Given the description of an element on the screen output the (x, y) to click on. 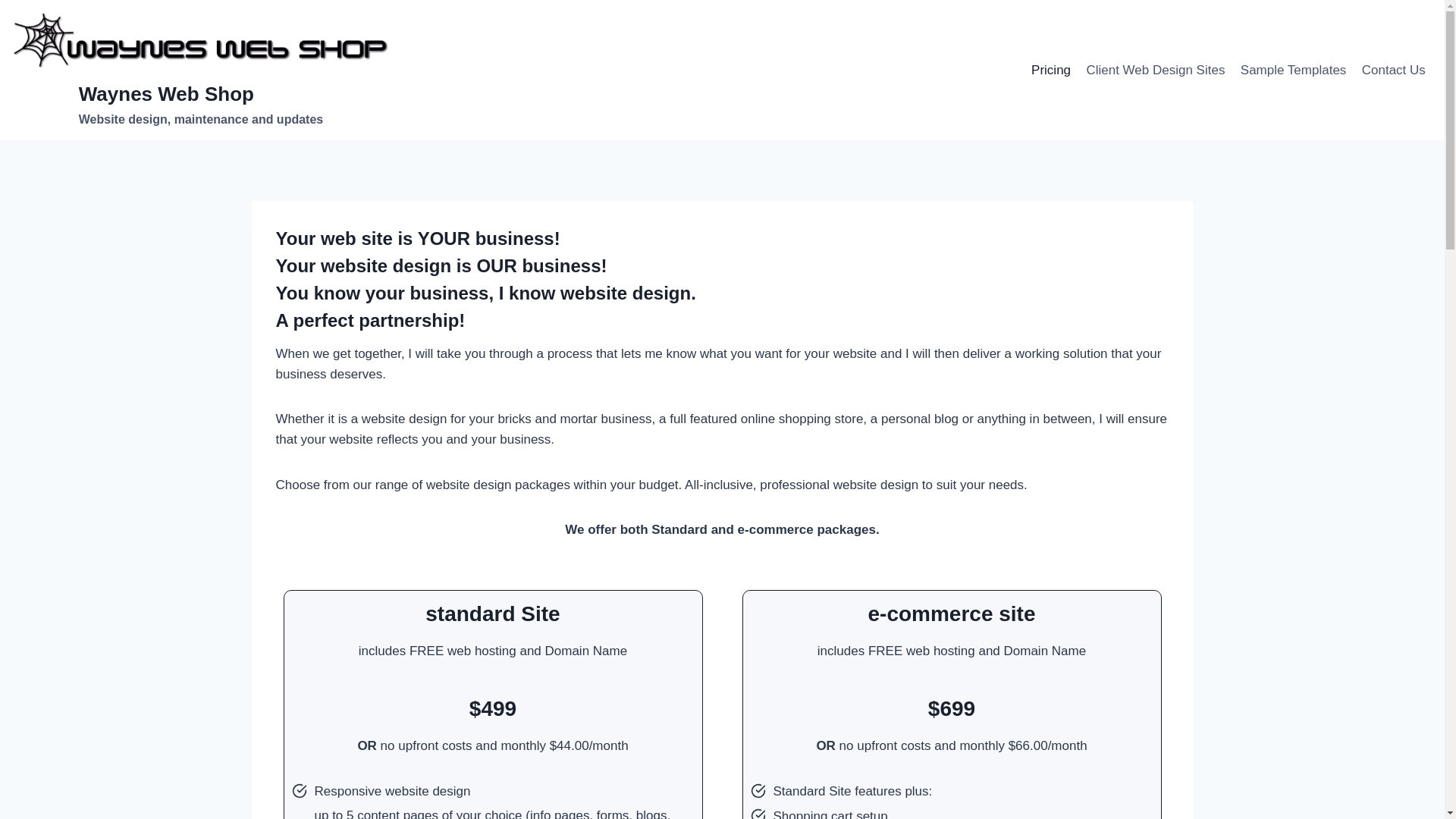
Contact Us Element type: text (1393, 70)
Waynes Web Shop
Website design, maintenance and updates Element type: text (200, 69)
Client Web Design Sites Element type: text (1155, 70)
Sample Templates Element type: text (1293, 70)
Pricing Element type: text (1050, 70)
